Given the description of an element on the screen output the (x, y) to click on. 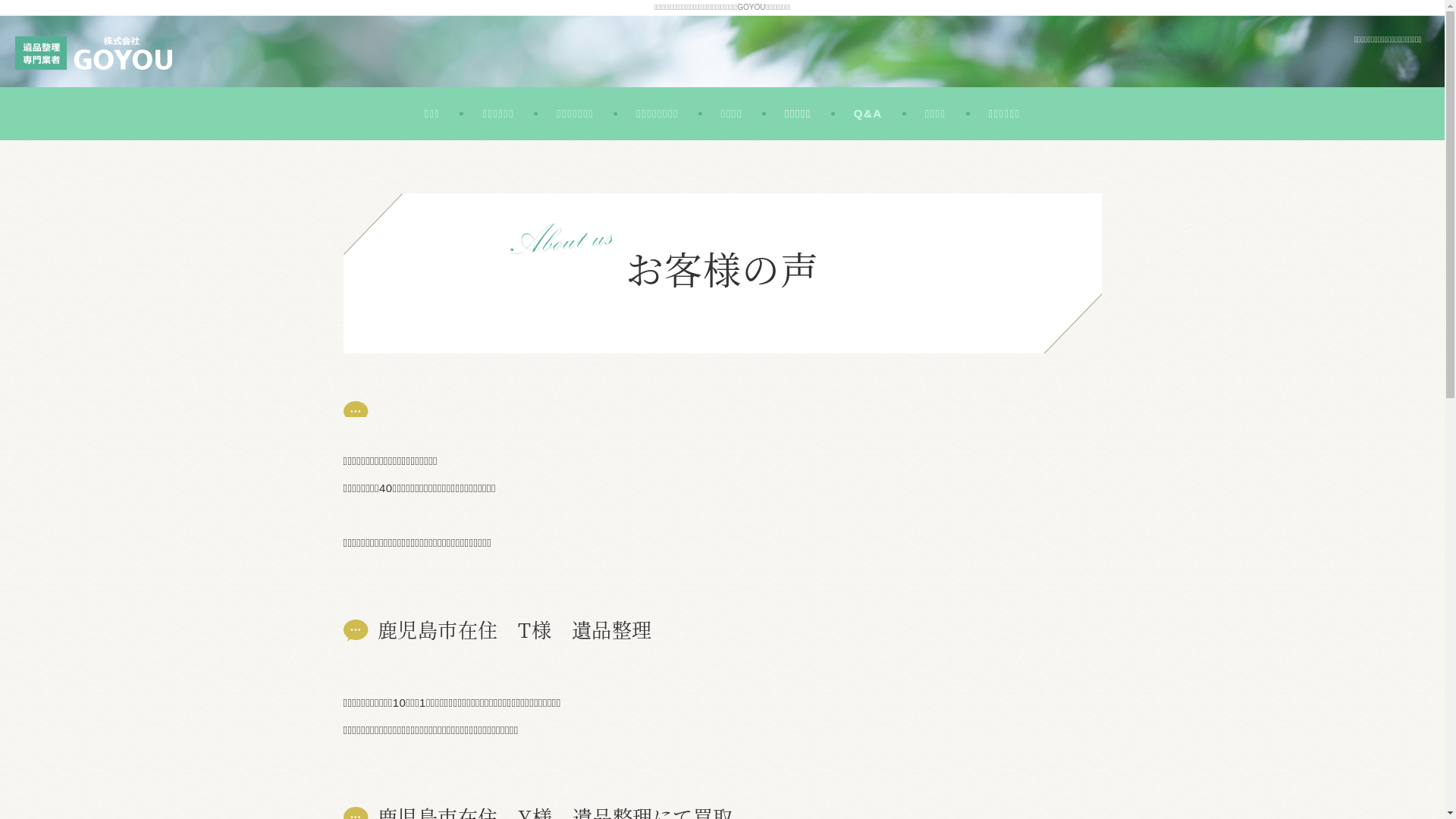
Q&A Element type: text (867, 113)
